Given the description of an element on the screen output the (x, y) to click on. 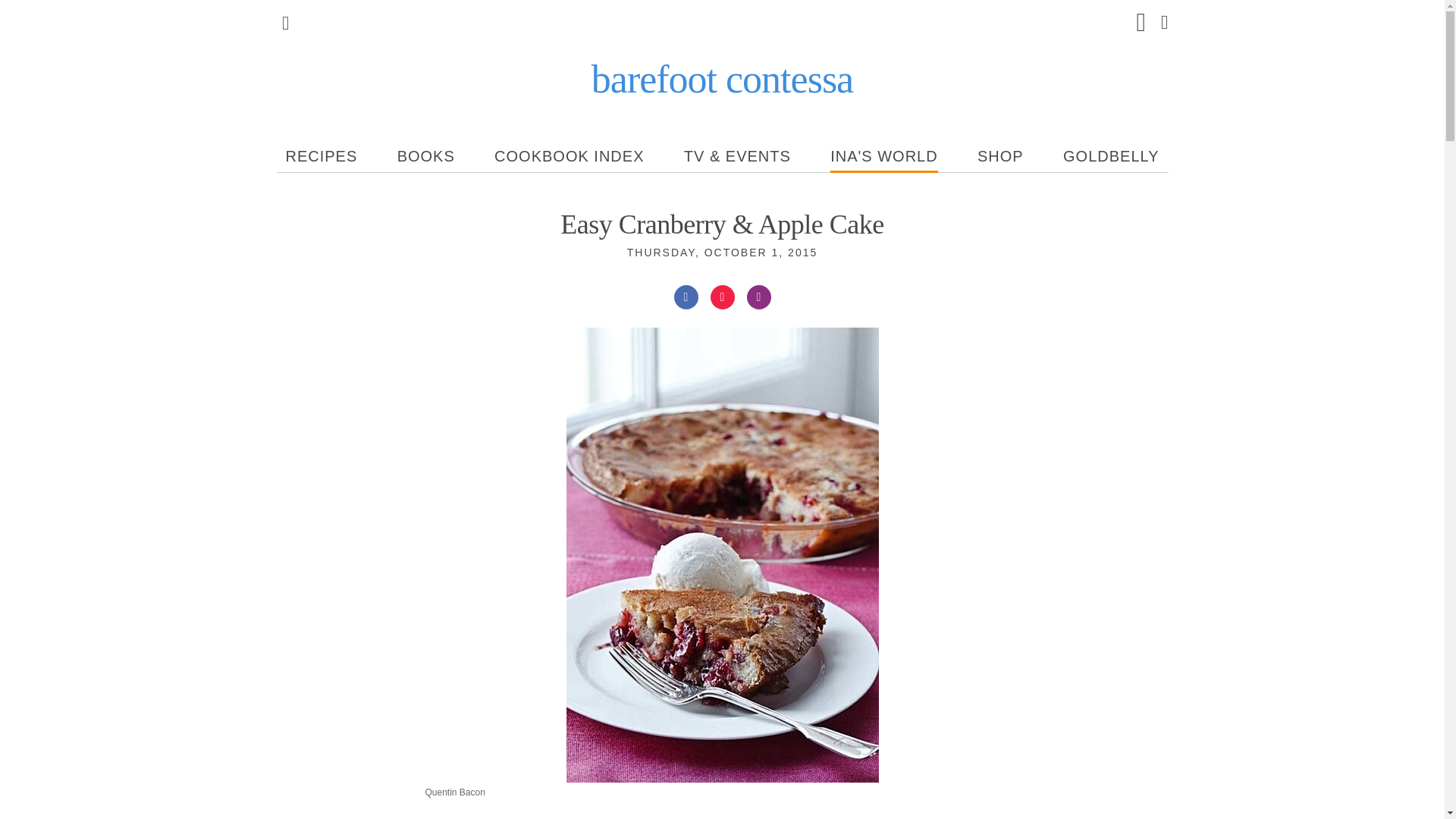
INA'S WORLD (883, 155)
barefoot contessa (722, 78)
RECIPES (320, 155)
BOOKS (425, 155)
SHOP (999, 155)
GOLDBELLY (1110, 155)
COOKBOOK INDEX (569, 155)
